Given the description of an element on the screen output the (x, y) to click on. 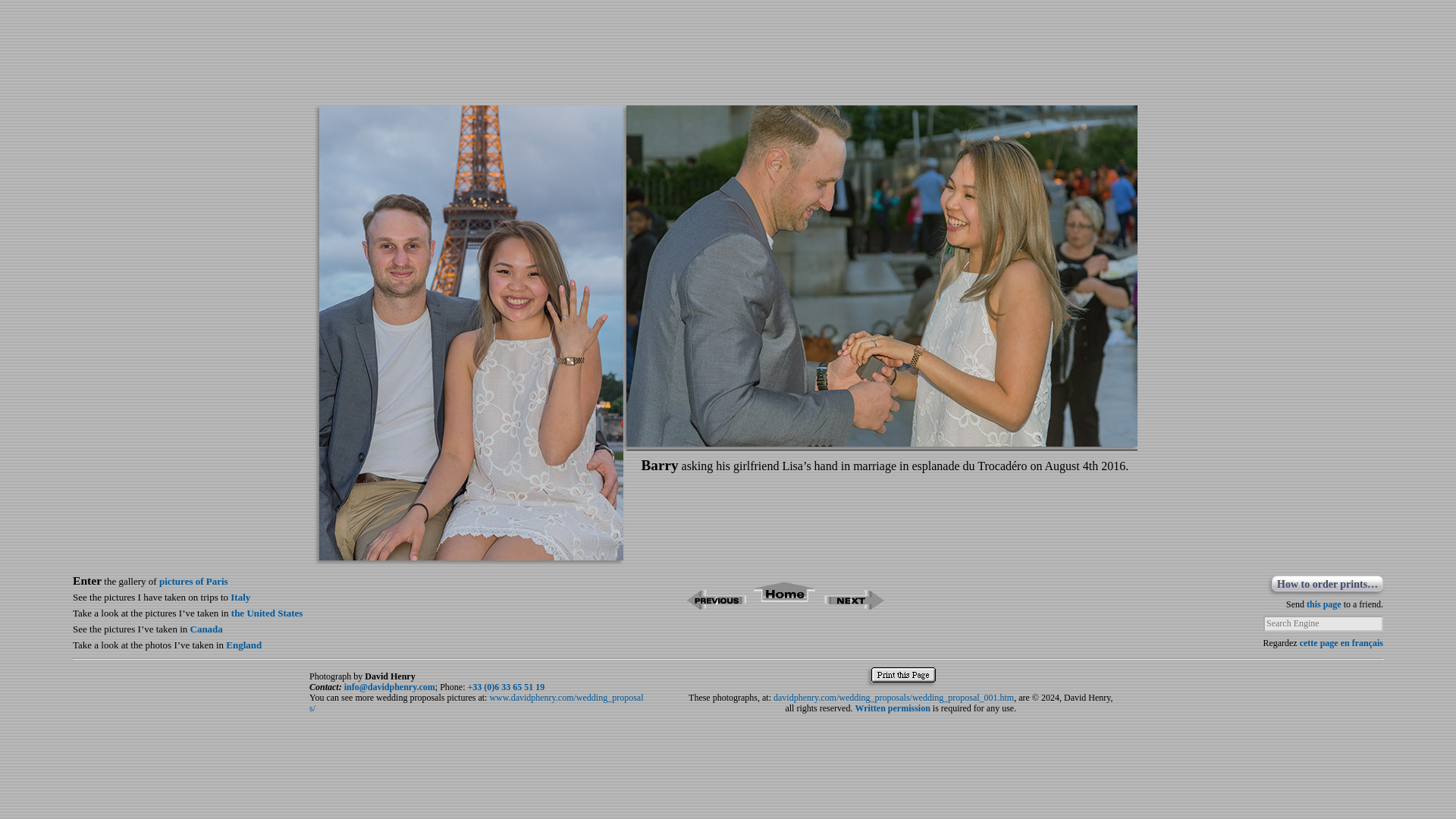
Go to the index of wedding proposals in Paris. (784, 604)
this page (1323, 603)
England (243, 644)
Photographs of Rome, Pompeii, the Amalfi Coast and Naples. (240, 596)
Dial 336 33 65 51 19 from outside France. (505, 686)
Written permission (892, 707)
